Given the description of an element on the screen output the (x, y) to click on. 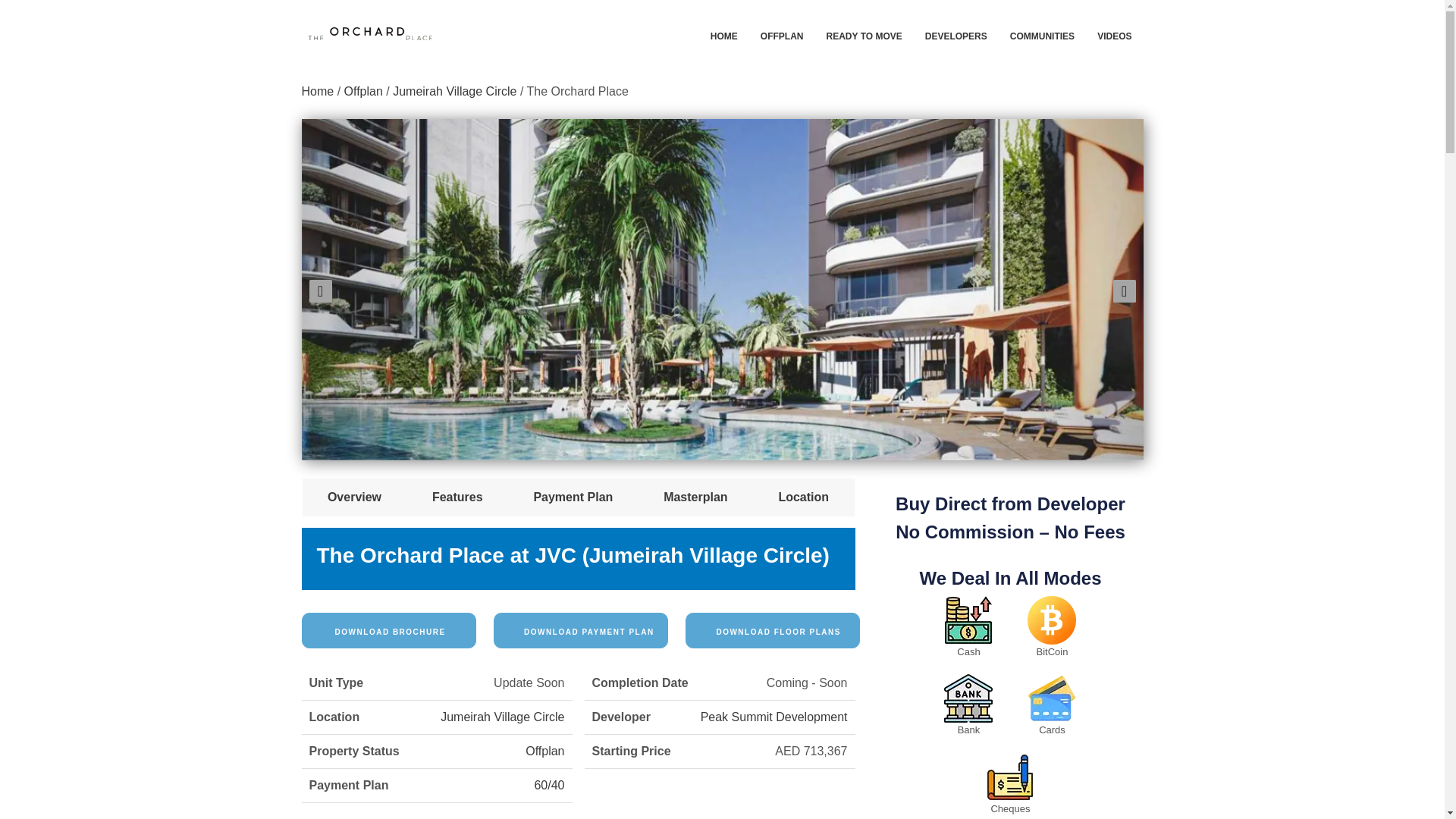
Payment Plan (572, 496)
Features (457, 496)
 DOWNLOAD PAYMENT PLAN (580, 630)
Offplan (362, 91)
Peak Summit Development (773, 716)
 DOWNLOAD FLOOR PLANS (772, 630)
Offplan (544, 750)
DEVELOPERS (956, 34)
OFFPLAN (782, 34)
READY TO MOVE (864, 34)
Masterplan (694, 496)
Home (317, 91)
Jumeirah Village Circle (502, 716)
Overview (354, 496)
